Given the description of an element on the screen output the (x, y) to click on. 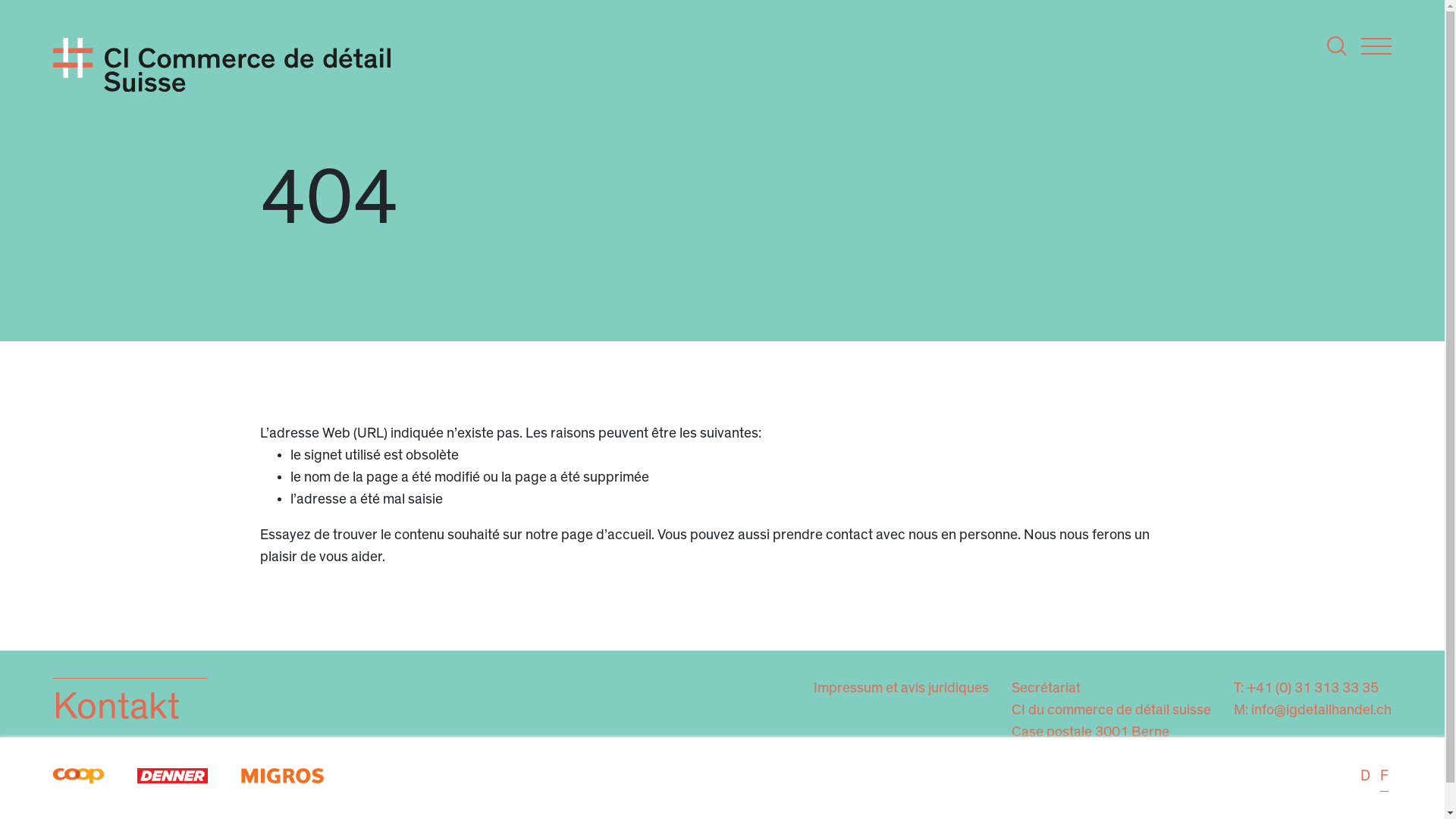
D Element type: text (1365, 777)
Impressum et avis juridiques Element type: text (900, 687)
F Element type: text (1384, 778)
info@igdetailhandel.ch Element type: text (1321, 709)
